Given the description of an element on the screen output the (x, y) to click on. 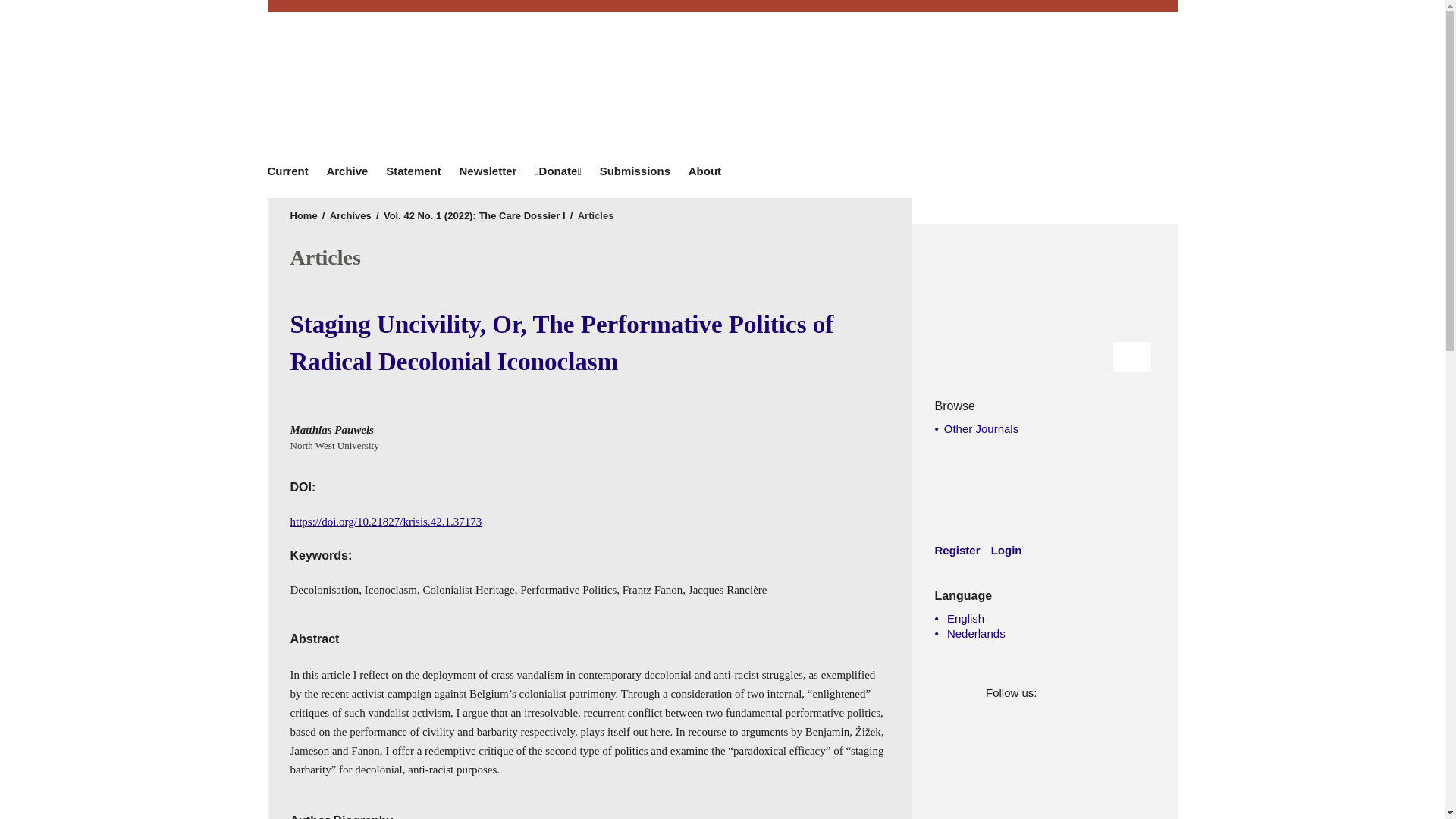
Newsletter (487, 170)
Archive (346, 170)
About (705, 170)
Archives (350, 215)
University of Groningen Press (941, 91)
Statement (413, 170)
Home (303, 215)
Current (290, 170)
Submissions (635, 170)
